Given the description of an element on the screen output the (x, y) to click on. 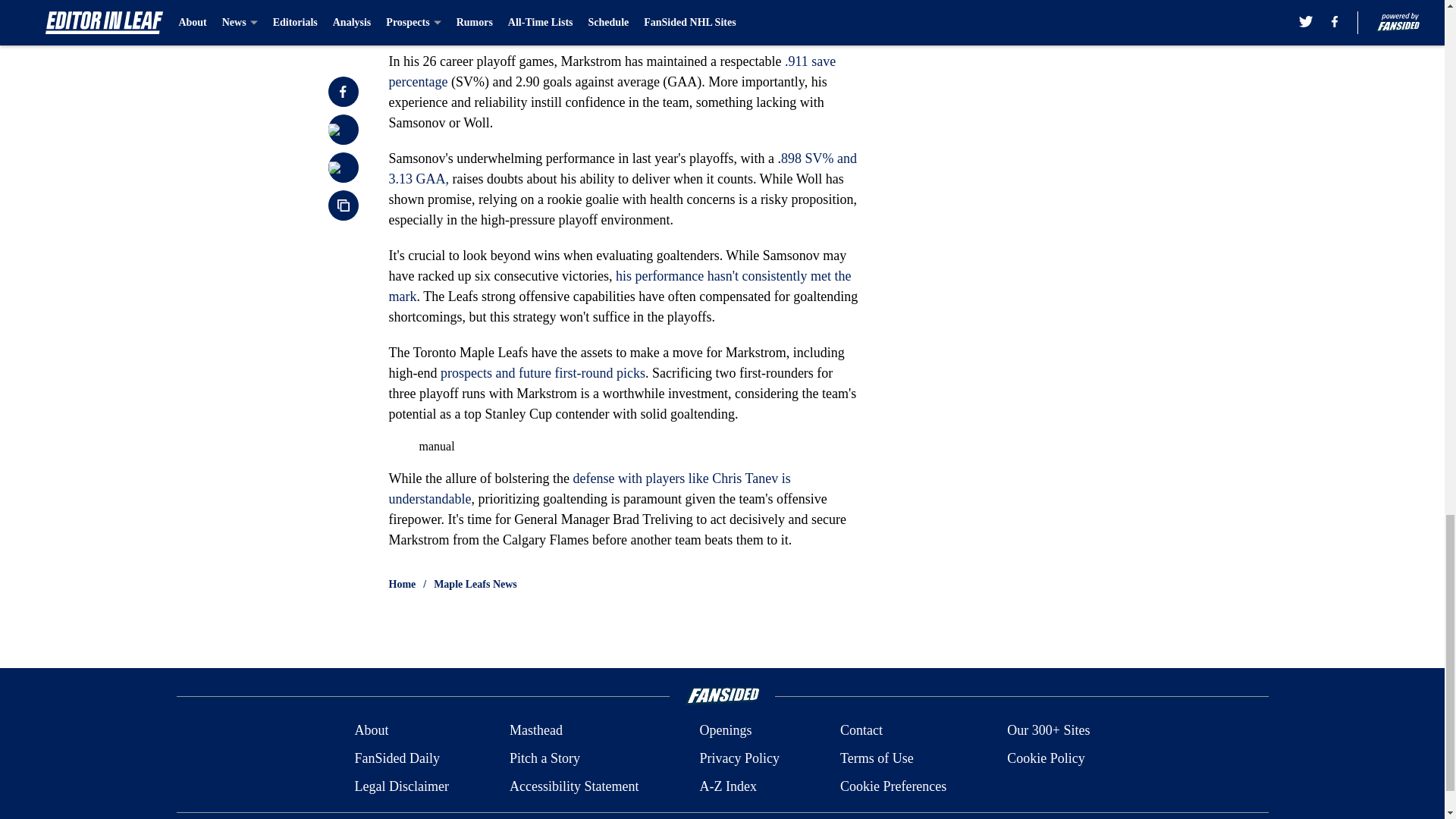
Contact (861, 730)
prospects and future first-round picks (543, 372)
Openings (724, 730)
.911 save percentage (611, 71)
Terms of Use (877, 758)
About (370, 730)
his performance hasn't consistently met the mark (619, 285)
defense with players like Chris Tanev is understandable (589, 488)
Privacy Policy (738, 758)
Pitch a Story (544, 758)
Maple Leafs News (474, 584)
Home (401, 584)
Masthead (535, 730)
FanSided Daily (396, 758)
